Given the description of an element on the screen output the (x, y) to click on. 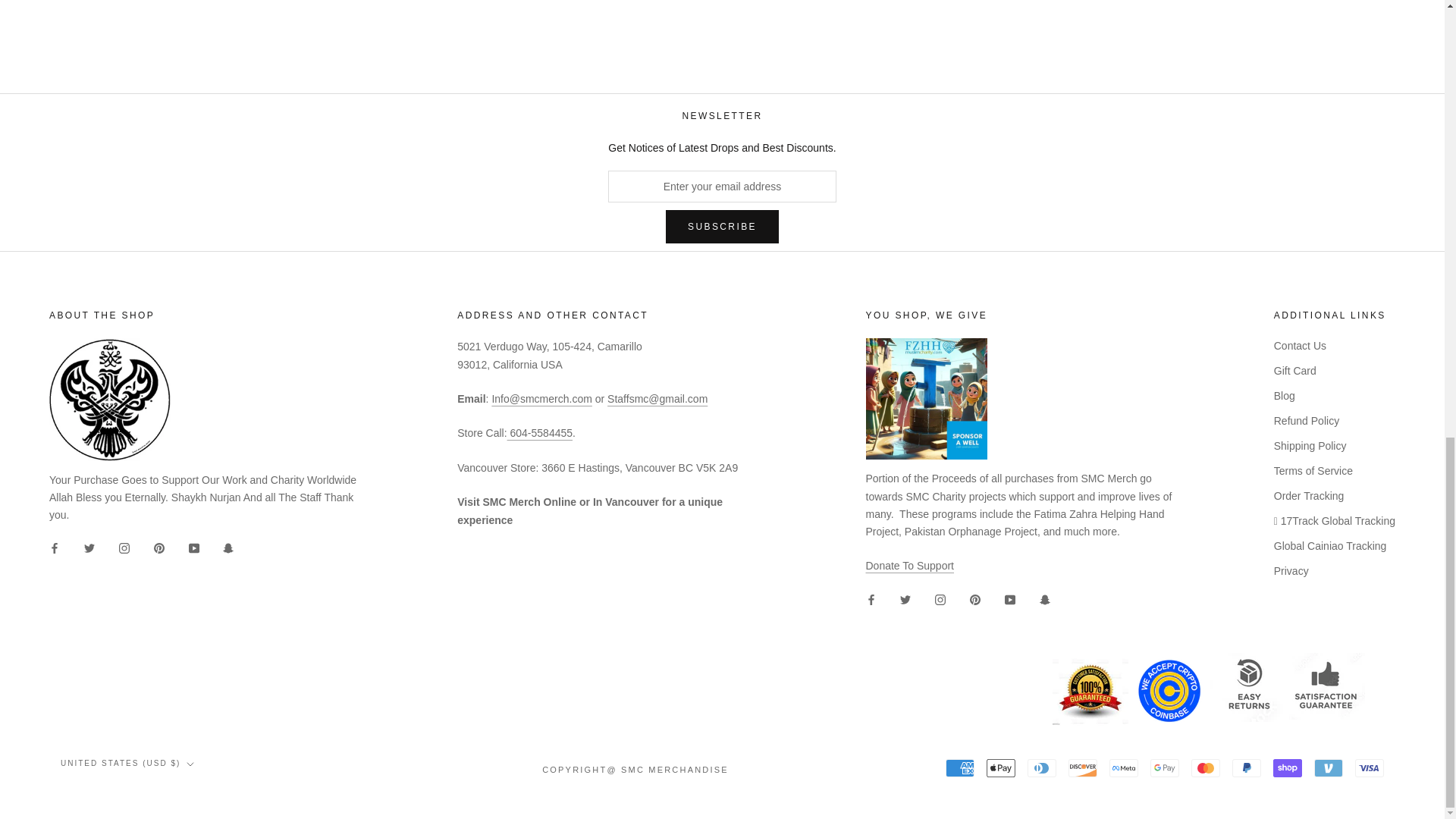
American Express (959, 768)
tel: 604-5584455 (539, 432)
